Given the description of an element on the screen output the (x, y) to click on. 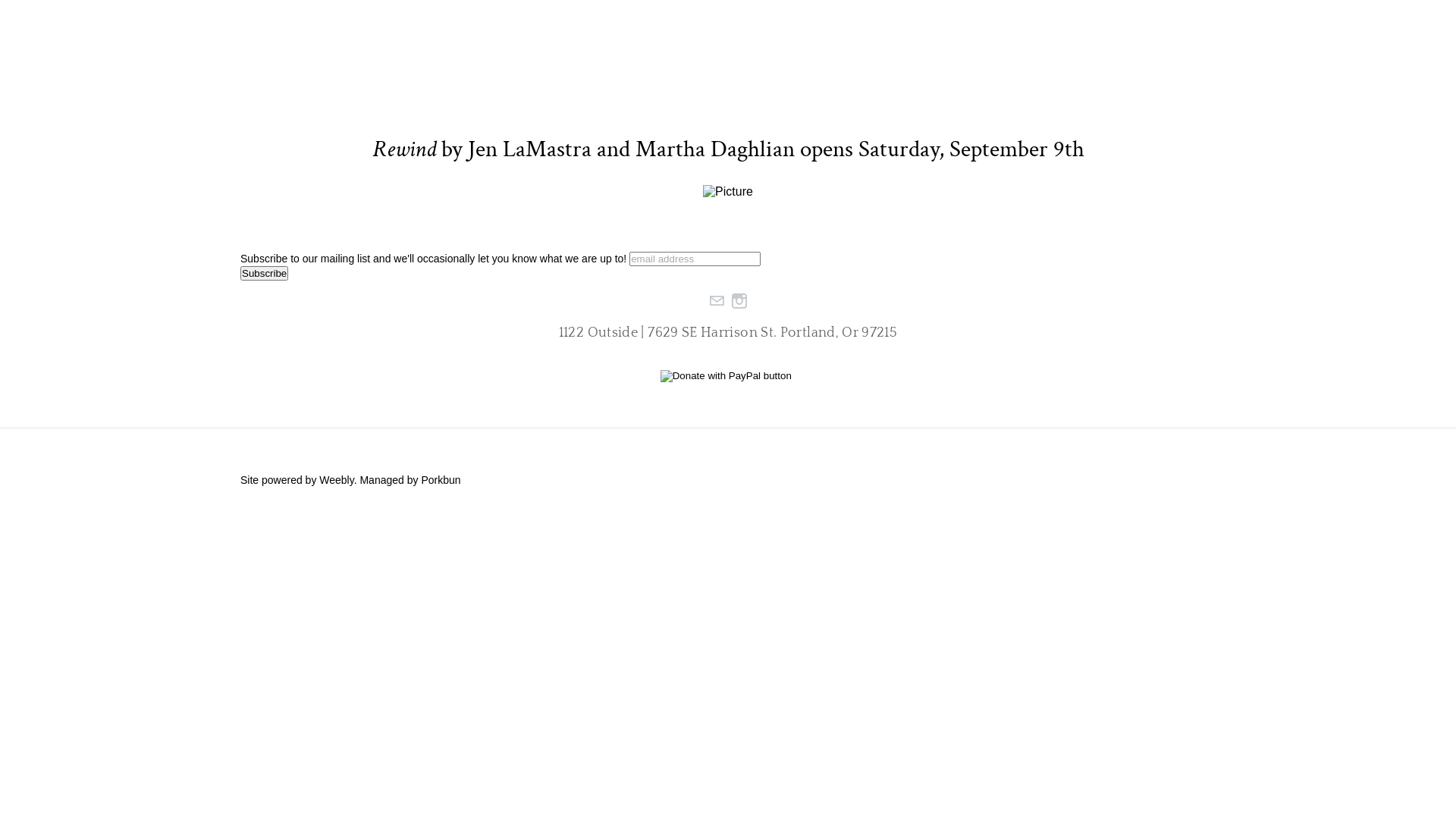
PayPal - The safer, easier way to pay online! Element type: hover (725, 376)
Porkbun Element type: text (440, 479)
Subscribe Element type: text (264, 273)
